Given the description of an element on the screen output the (x, y) to click on. 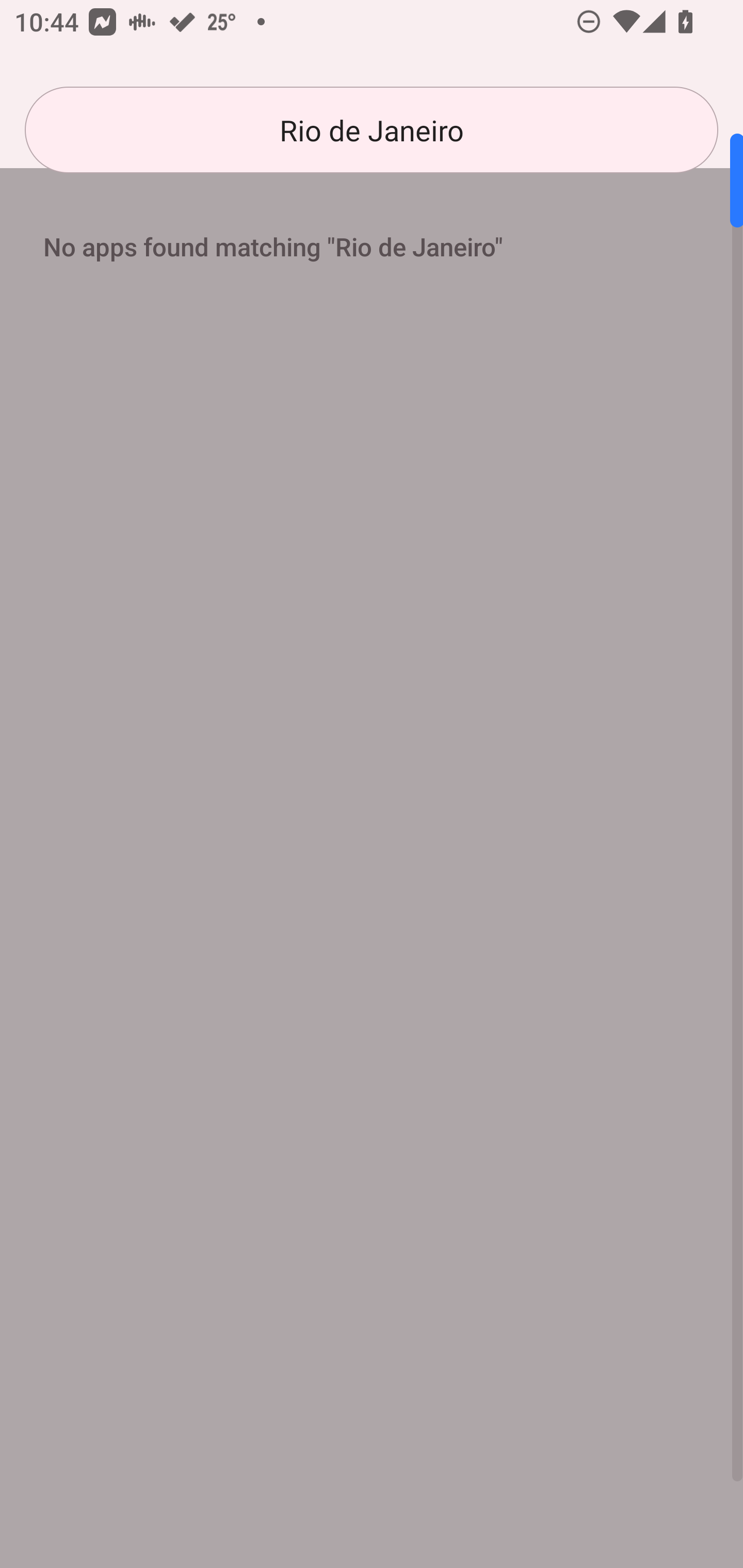
Rio de Janeiro (371, 130)
